Given the description of an element on the screen output the (x, y) to click on. 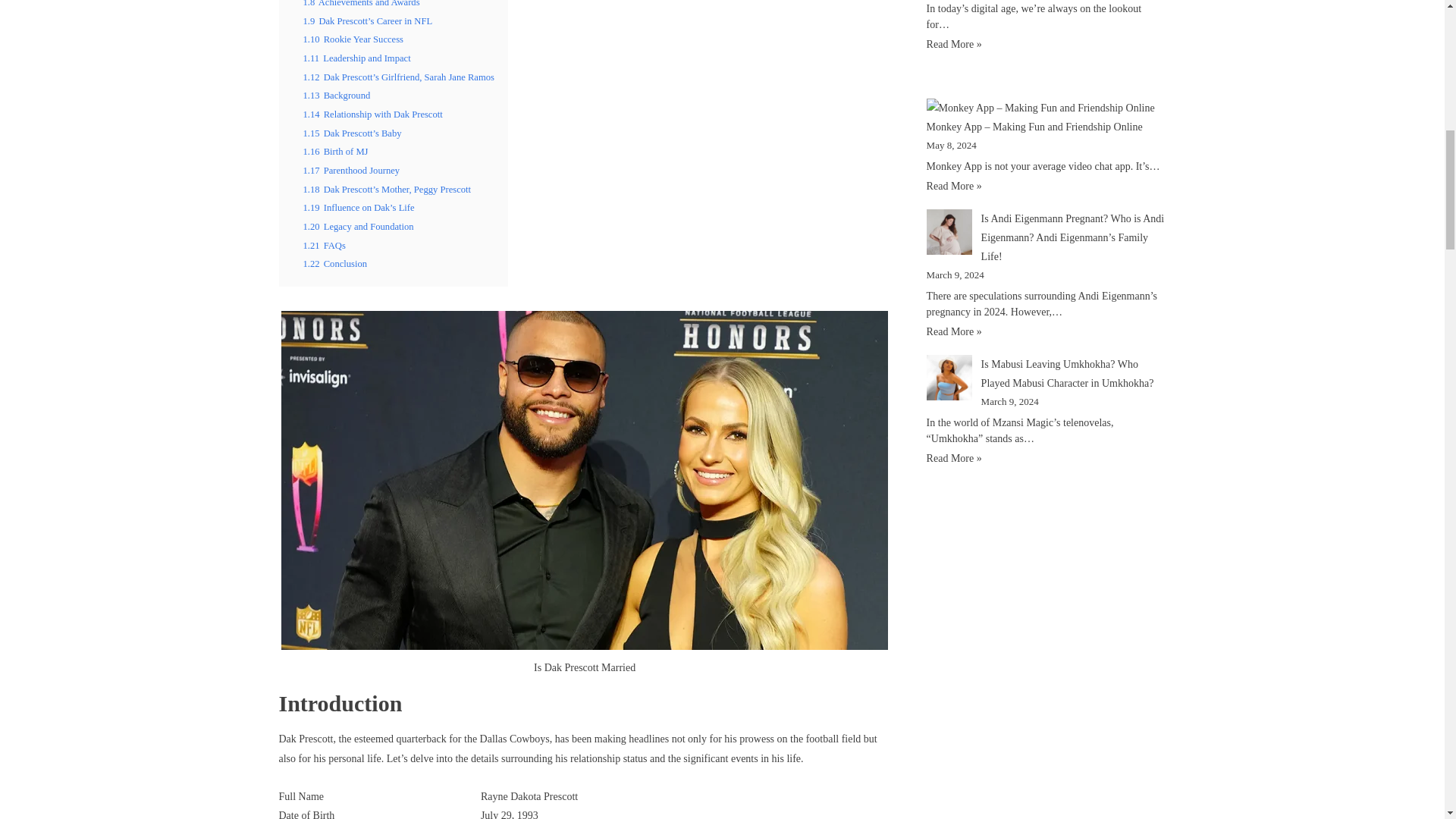
1.11 Leadership and Impact (356, 58)
1.8 Achievements and Awards (361, 3)
1.14 Relationship with Dak Prescott (372, 113)
1.17 Parenthood Journey (351, 170)
1.21 FAQs (324, 245)
1.10 Rookie Year Success (353, 39)
1.20 Legacy and Foundation (357, 226)
1.22 Conclusion (335, 263)
1.16 Birth of MJ (335, 151)
1.13 Background (336, 95)
